Given the description of an element on the screen output the (x, y) to click on. 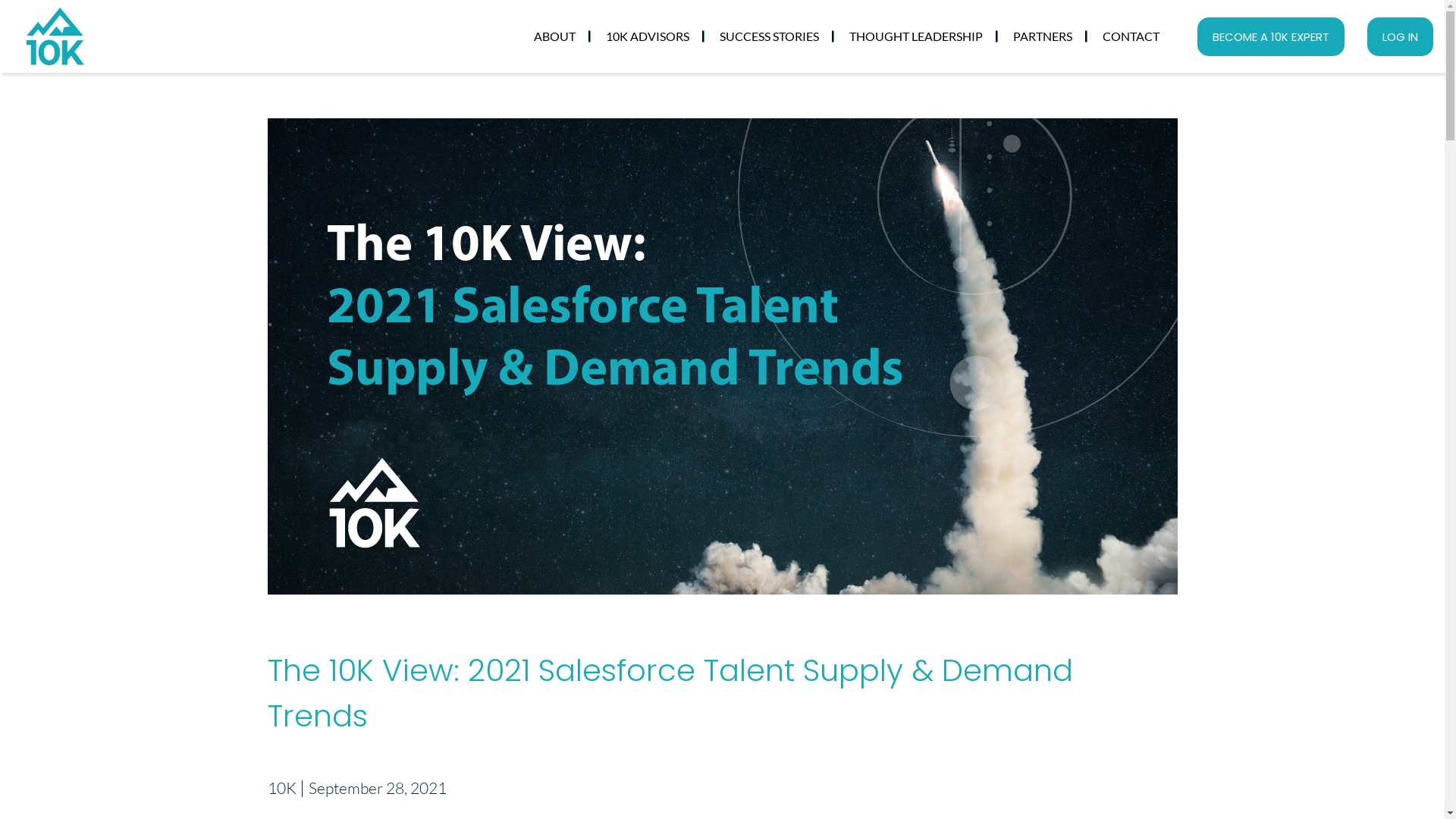
THOUGHT LEADERSHIP Element type: text (915, 36)
10K ADVISORS Element type: text (647, 36)
2021_Salesforce Talent Supply and Demand Trends-01 Element type: hover (721, 356)
PARTNERS Element type: text (1042, 36)
BECOME A 10K EXPERT Element type: text (1270, 35)
SUCCESS STORIES Element type: text (769, 36)
LOG IN Element type: text (1400, 35)
ABOUT Element type: text (554, 36)
CONTACT Element type: text (1130, 36)
